Given the description of an element on the screen output the (x, y) to click on. 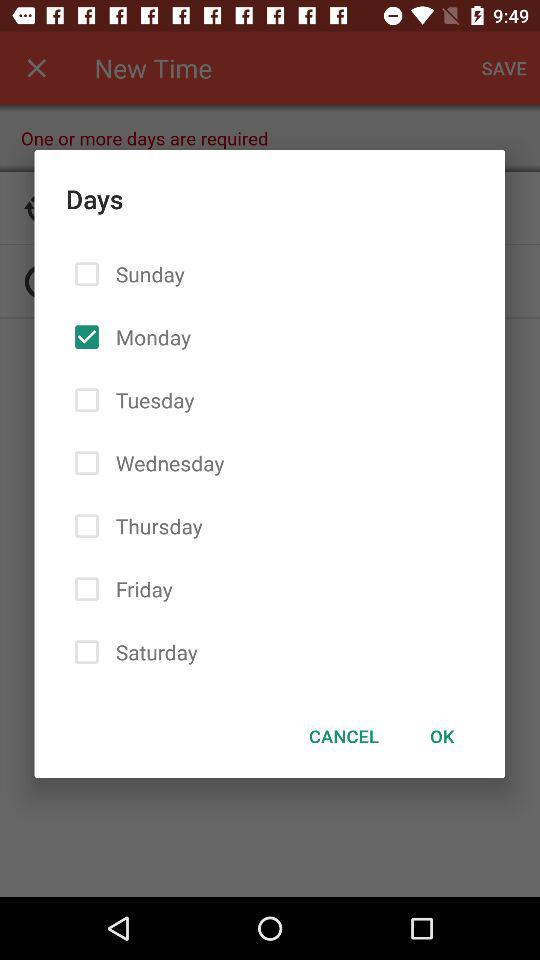
select tuesday (151, 399)
